Given the description of an element on the screen output the (x, y) to click on. 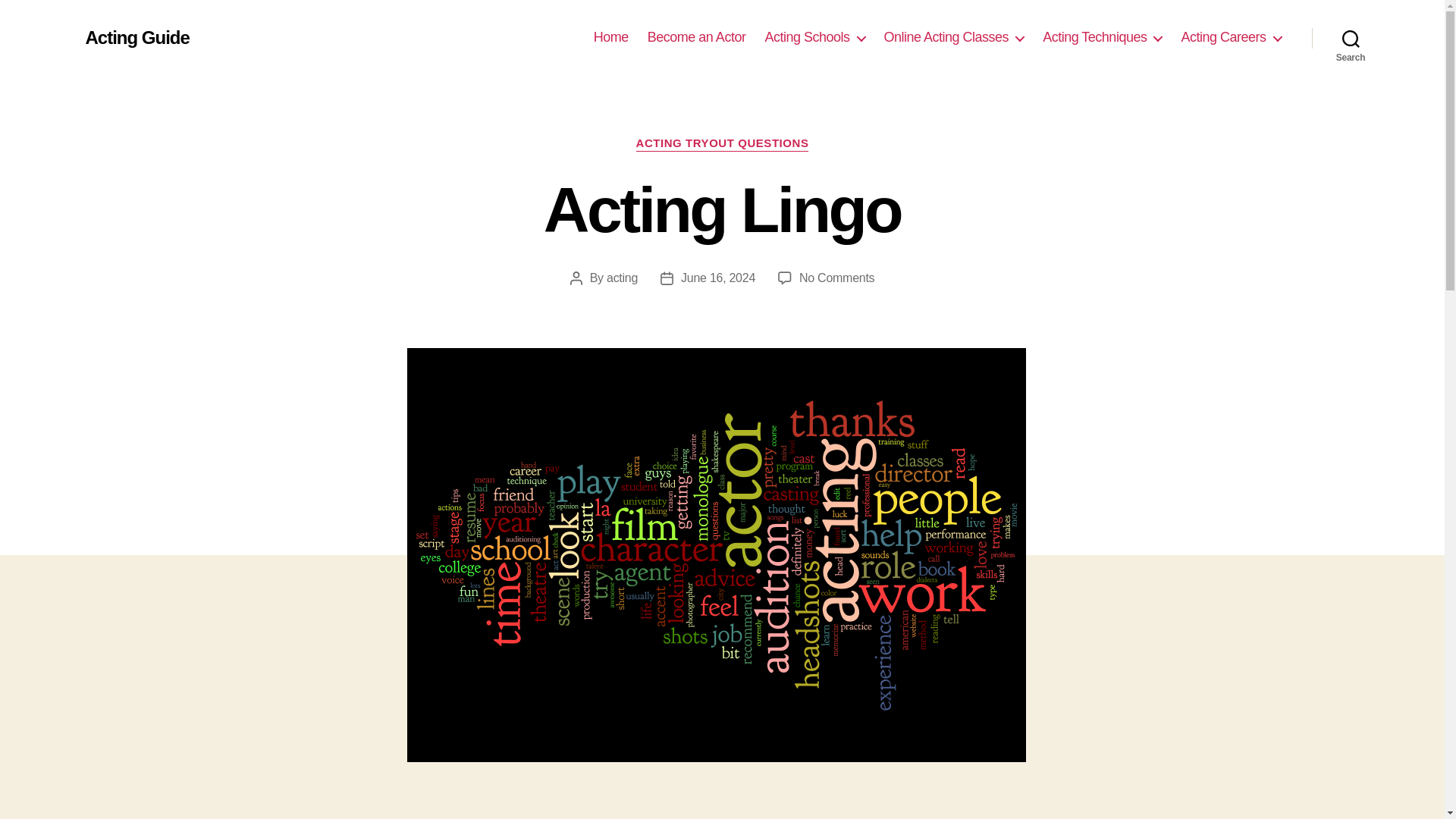
Acting Guide (136, 37)
Home (611, 37)
Online Acting Classes (954, 37)
Acting Schools (814, 37)
Become an Actor (696, 37)
